Given the description of an element on the screen output the (x, y) to click on. 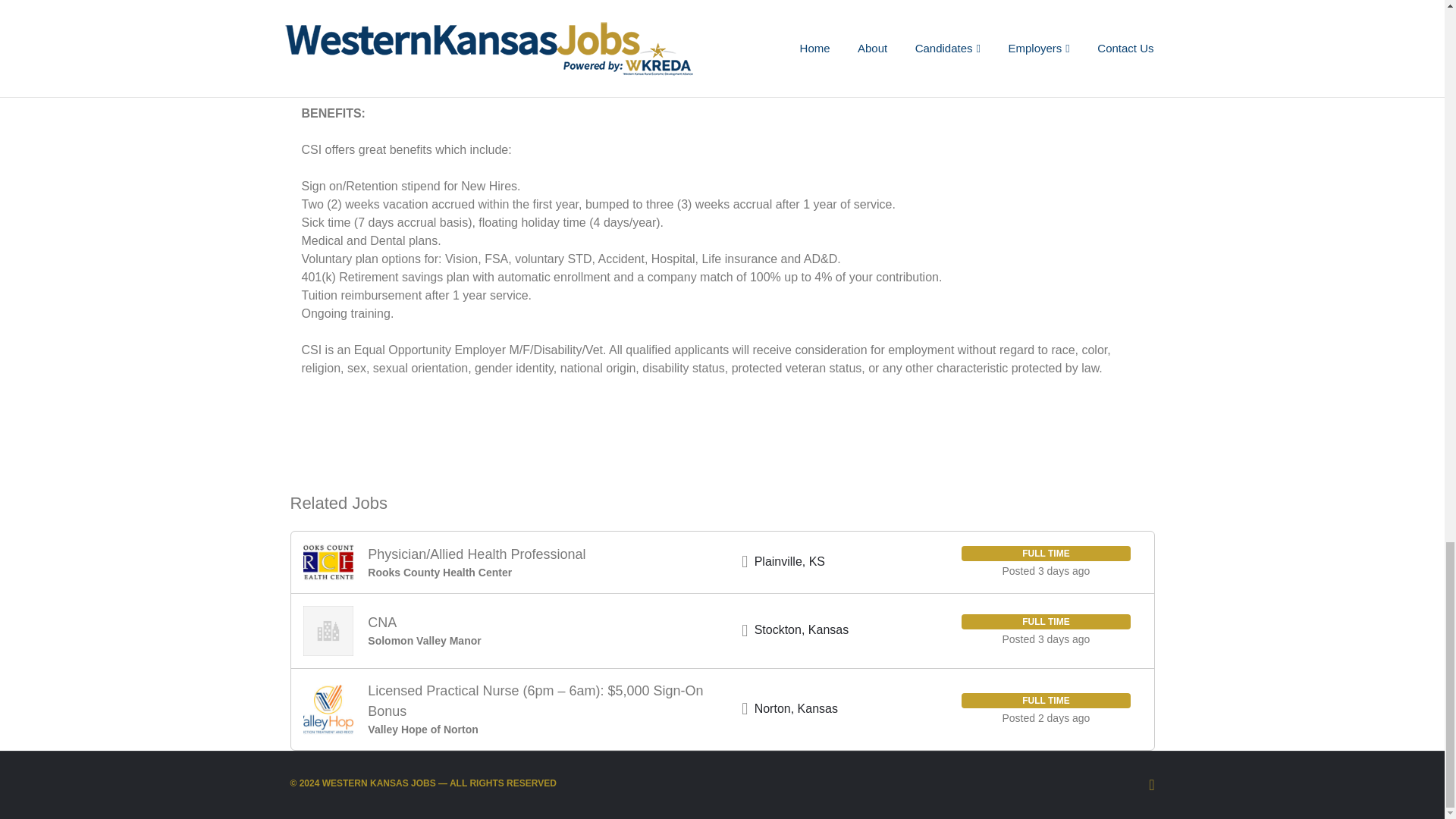
Stockton, Kansas (801, 629)
Norton, Kansas (796, 707)
Plainville, KS (789, 561)
Back to Top (1151, 784)
